Given the description of an element on the screen output the (x, y) to click on. 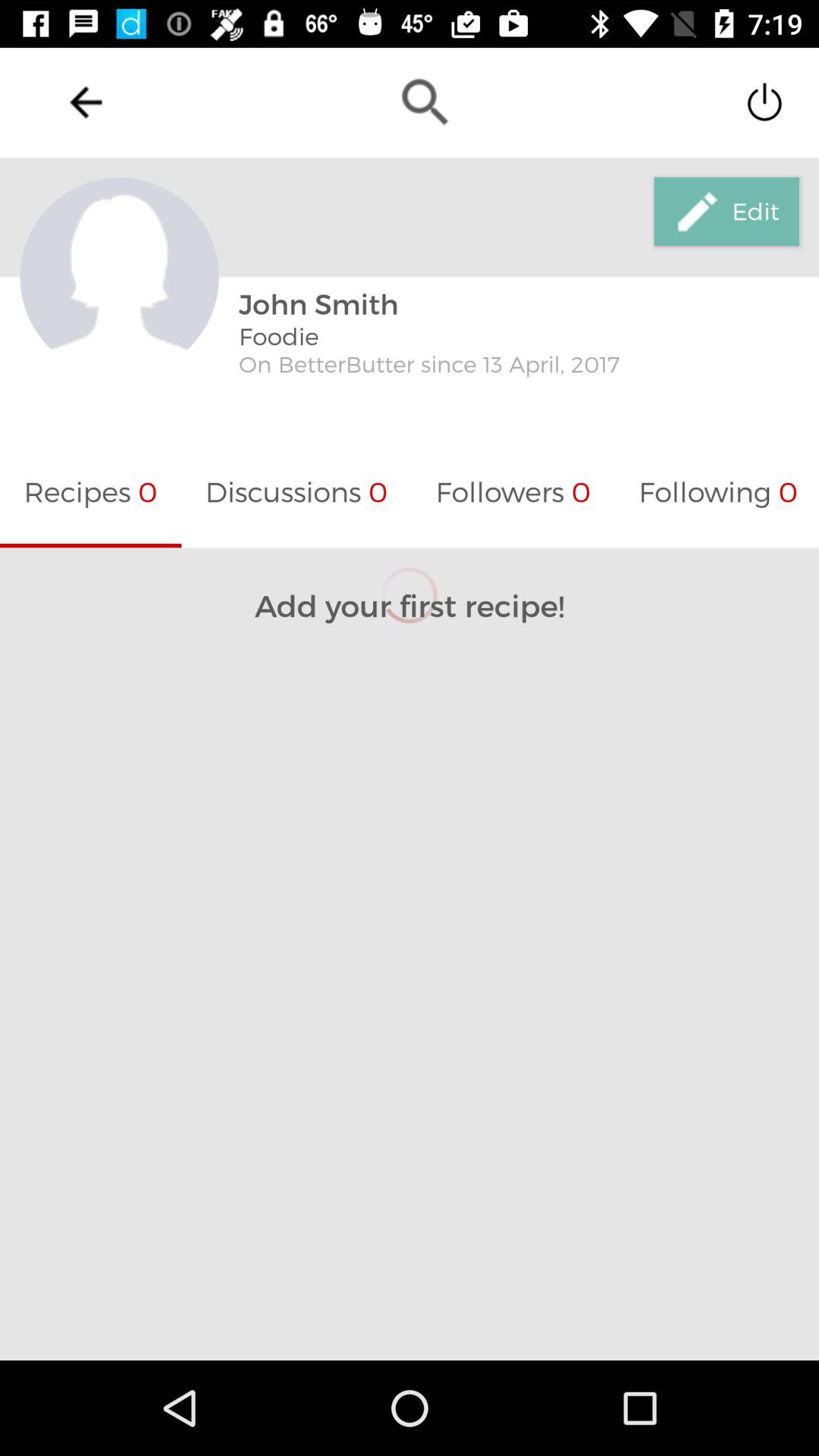
press icon above following 0 item (726, 211)
